Given the description of an element on the screen output the (x, y) to click on. 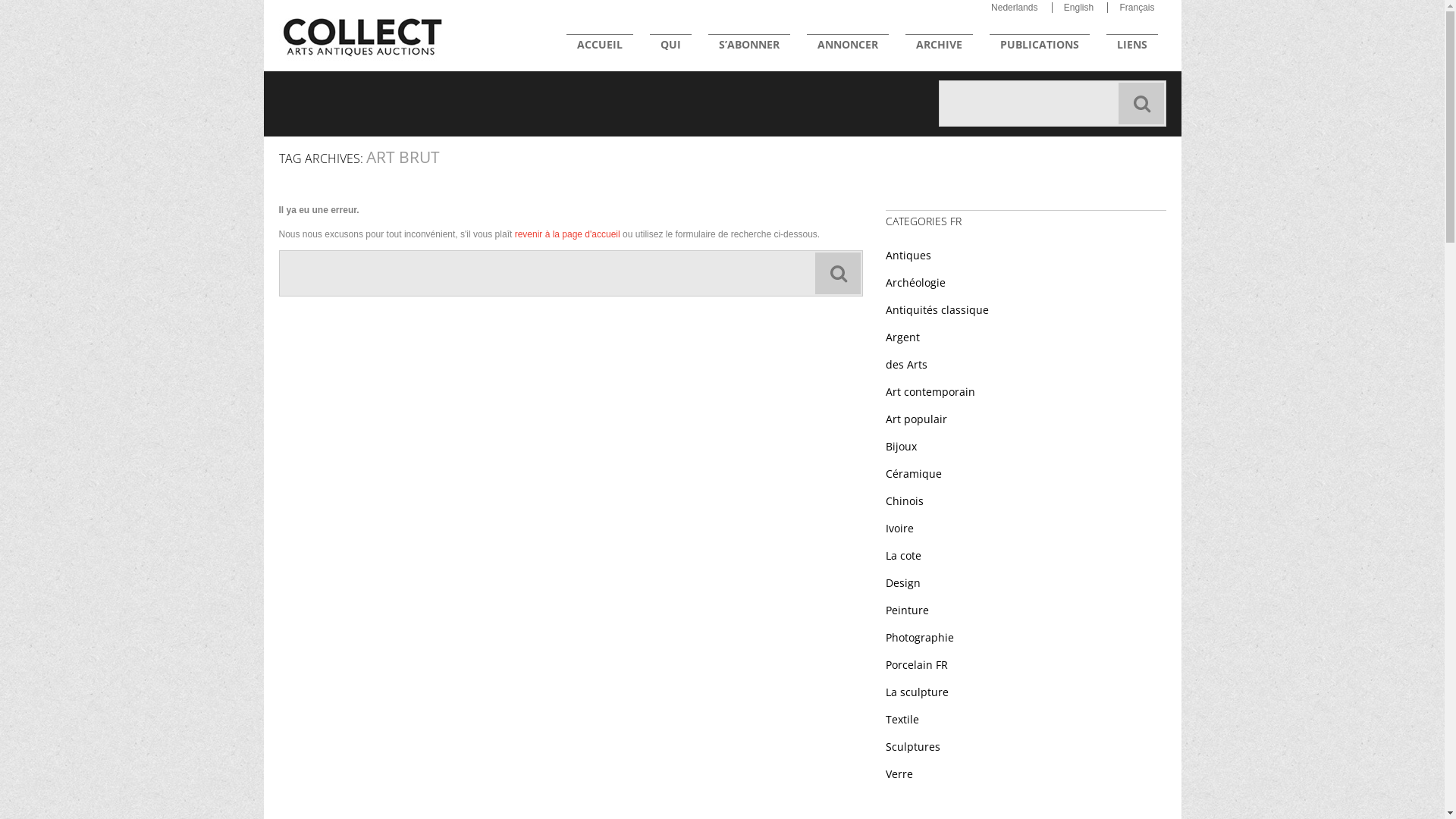
ARCHIVE Element type: text (939, 44)
Art contemporain Element type: text (930, 391)
Bijoux Element type: text (900, 446)
Nederlands Element type: text (1013, 7)
Art populair Element type: text (916, 418)
Peinture Element type: text (906, 609)
Arts Antiques Auctions Element type: hover (362, 31)
des Arts Element type: text (906, 364)
recherche Element type: text (1140, 103)
ANNONCER Element type: text (847, 44)
PUBLICATIONS Element type: text (1038, 44)
LIENS Element type: text (1131, 44)
La cote Element type: text (903, 555)
Antiques Element type: text (908, 254)
Chinois Element type: text (904, 500)
Ivoire Element type: text (899, 527)
Argent Element type: text (902, 336)
ACCUEIL Element type: text (598, 44)
Textile Element type: text (902, 719)
Design Element type: text (902, 582)
QUI Element type: text (669, 44)
La sculpture Element type: text (916, 691)
recherche Element type: text (836, 273)
Sculptures Element type: text (912, 746)
Photographie Element type: text (919, 637)
Porcelain FR Element type: text (916, 664)
English Element type: text (1077, 7)
Verre Element type: text (899, 773)
